Given the description of an element on the screen output the (x, y) to click on. 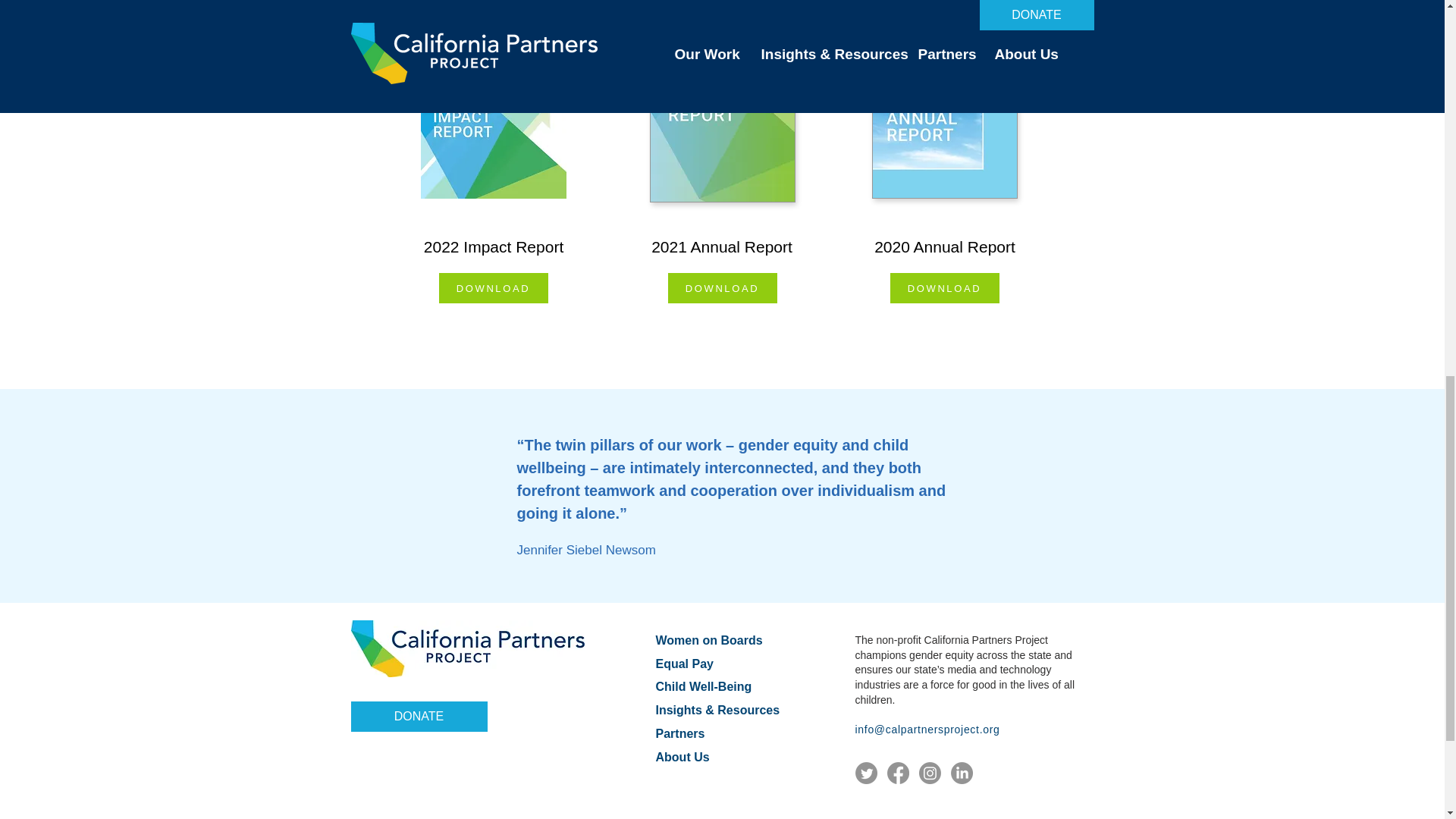
Equal Pay (684, 663)
Partners (679, 733)
Women on Boards (708, 640)
About Us (682, 757)
DONATE (418, 716)
DOWNLOAD (721, 287)
DOWNLOAD (943, 287)
Child Well-Being (703, 686)
DOWNLOAD (492, 287)
